Given the description of an element on the screen output the (x, y) to click on. 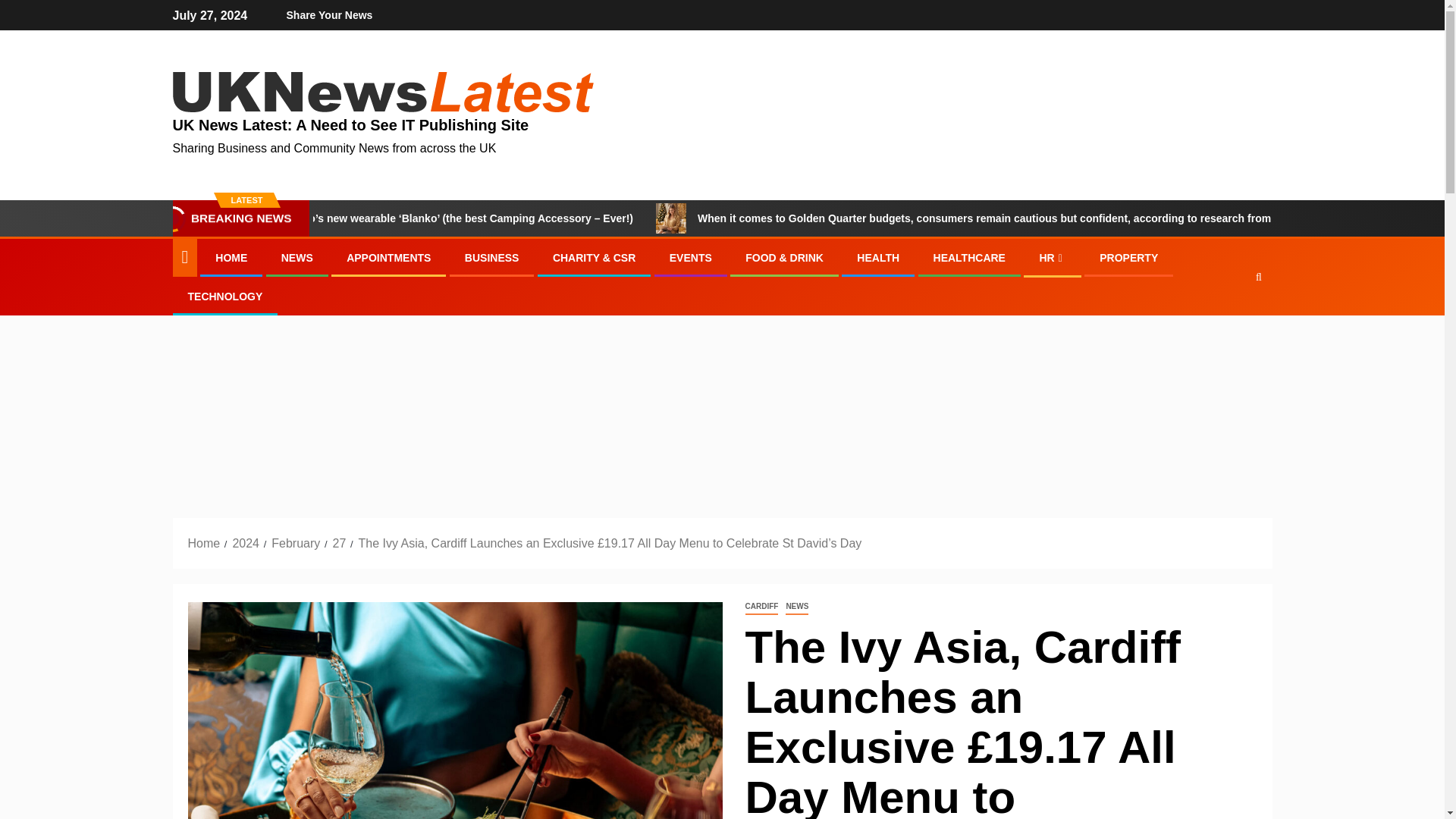
Home (204, 543)
PROPERTY (1128, 257)
CARDIFF (760, 606)
Search (1229, 323)
2024 (245, 543)
EVENTS (690, 257)
TECHNOLOGY (225, 296)
BUSINESS (491, 257)
NEWS (297, 257)
Search (1258, 276)
APPOINTMENTS (388, 257)
NEWS (797, 606)
Share Your News (329, 15)
HOME (231, 257)
